Given the description of an element on the screen output the (x, y) to click on. 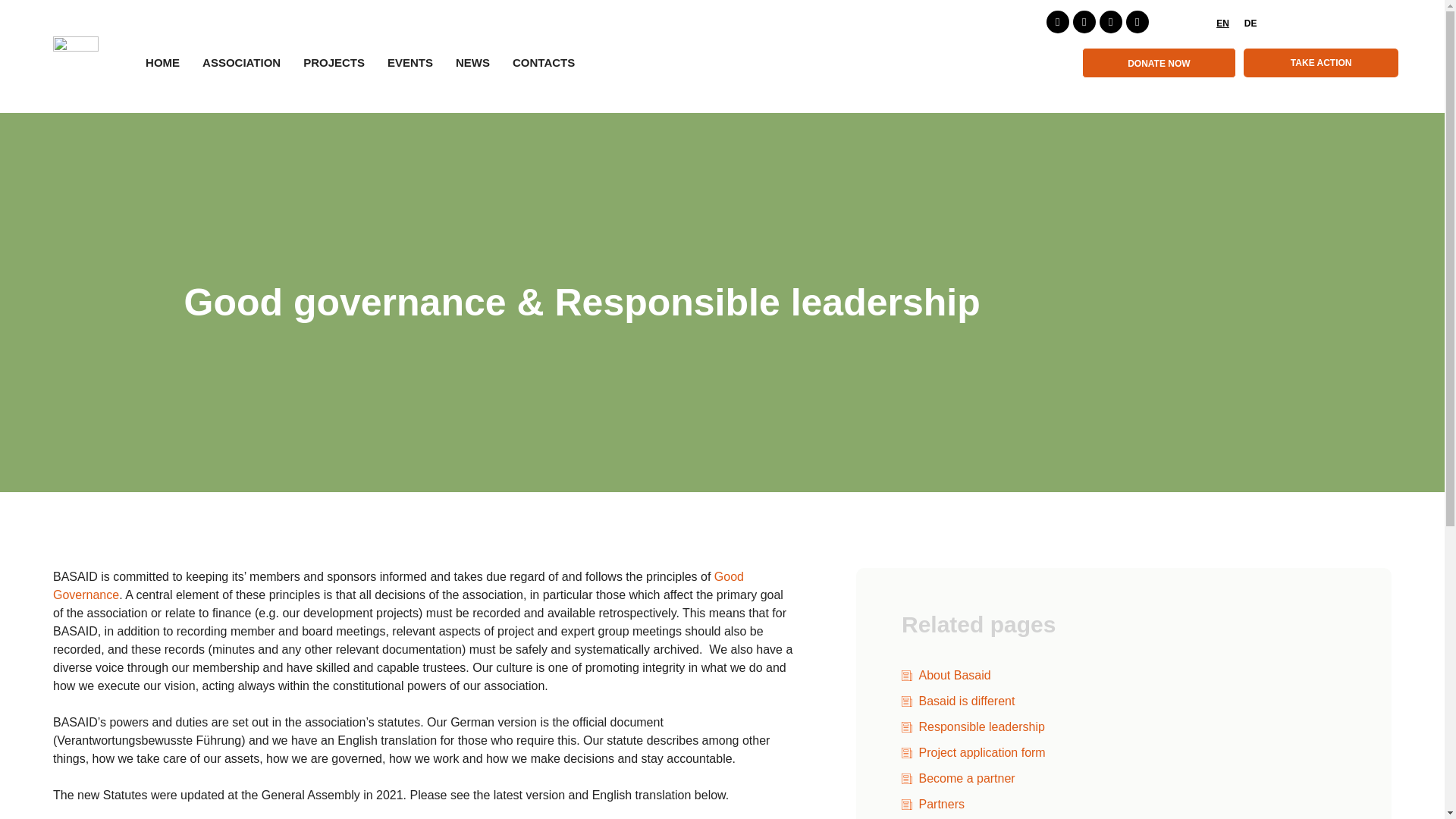
PROJECTS (333, 62)
HOME (161, 62)
NEWS (472, 62)
DE (1246, 22)
EVENTS (409, 62)
CONTACTS (543, 62)
EN (1219, 22)
ASSOCIATION (241, 62)
